Given the description of an element on the screen output the (x, y) to click on. 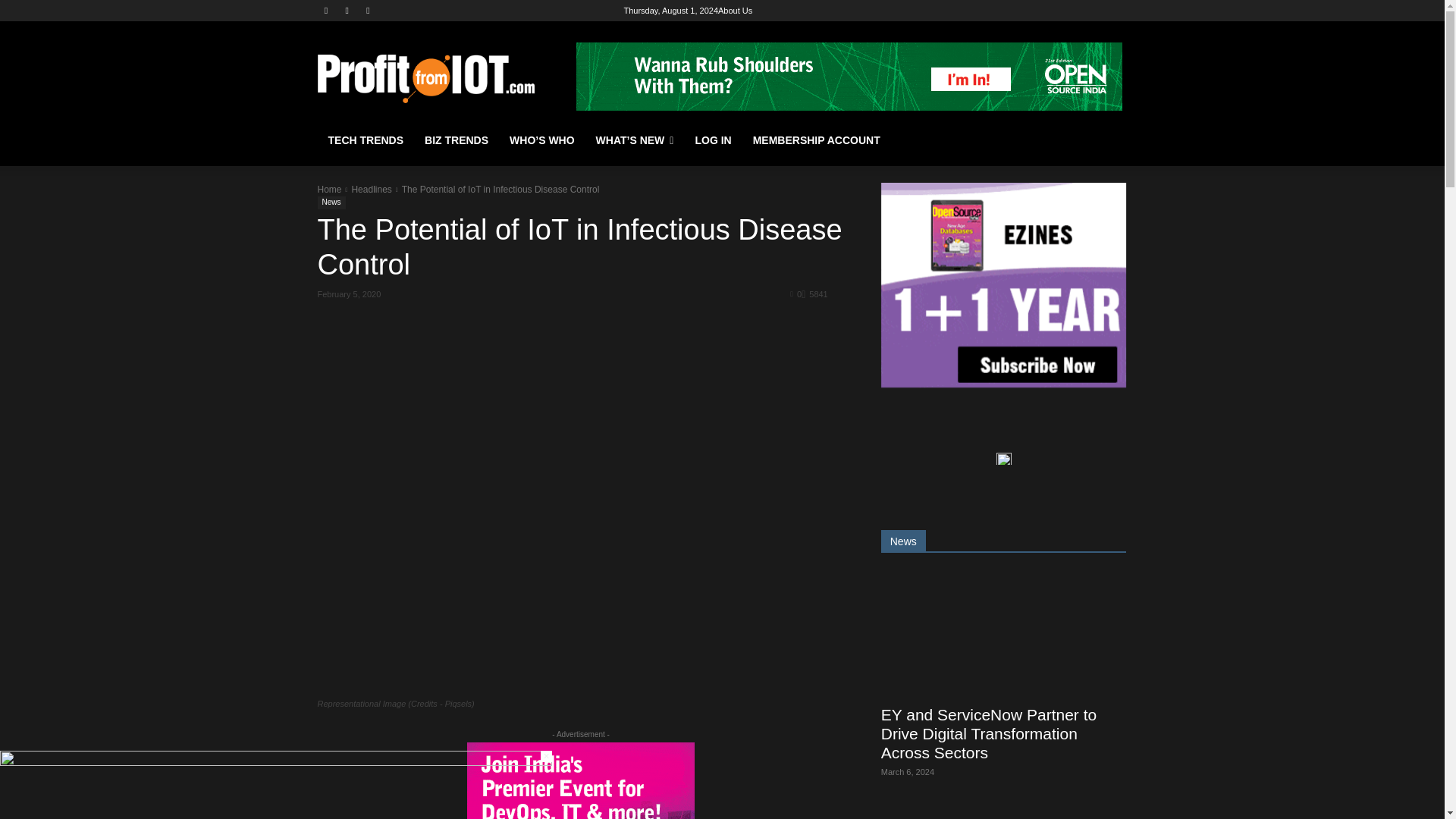
TECH TRENDS (365, 140)
View all posts in Headlines (370, 189)
News (331, 202)
About Us (734, 10)
Instagram (346, 9)
LOG IN (712, 140)
Headlines (370, 189)
Twitter (368, 9)
Facebook (325, 9)
MEMBERSHIP ACCOUNT (816, 140)
0 (796, 293)
BIZ TRENDS (456, 140)
Home (328, 189)
